Given the description of an element on the screen output the (x, y) to click on. 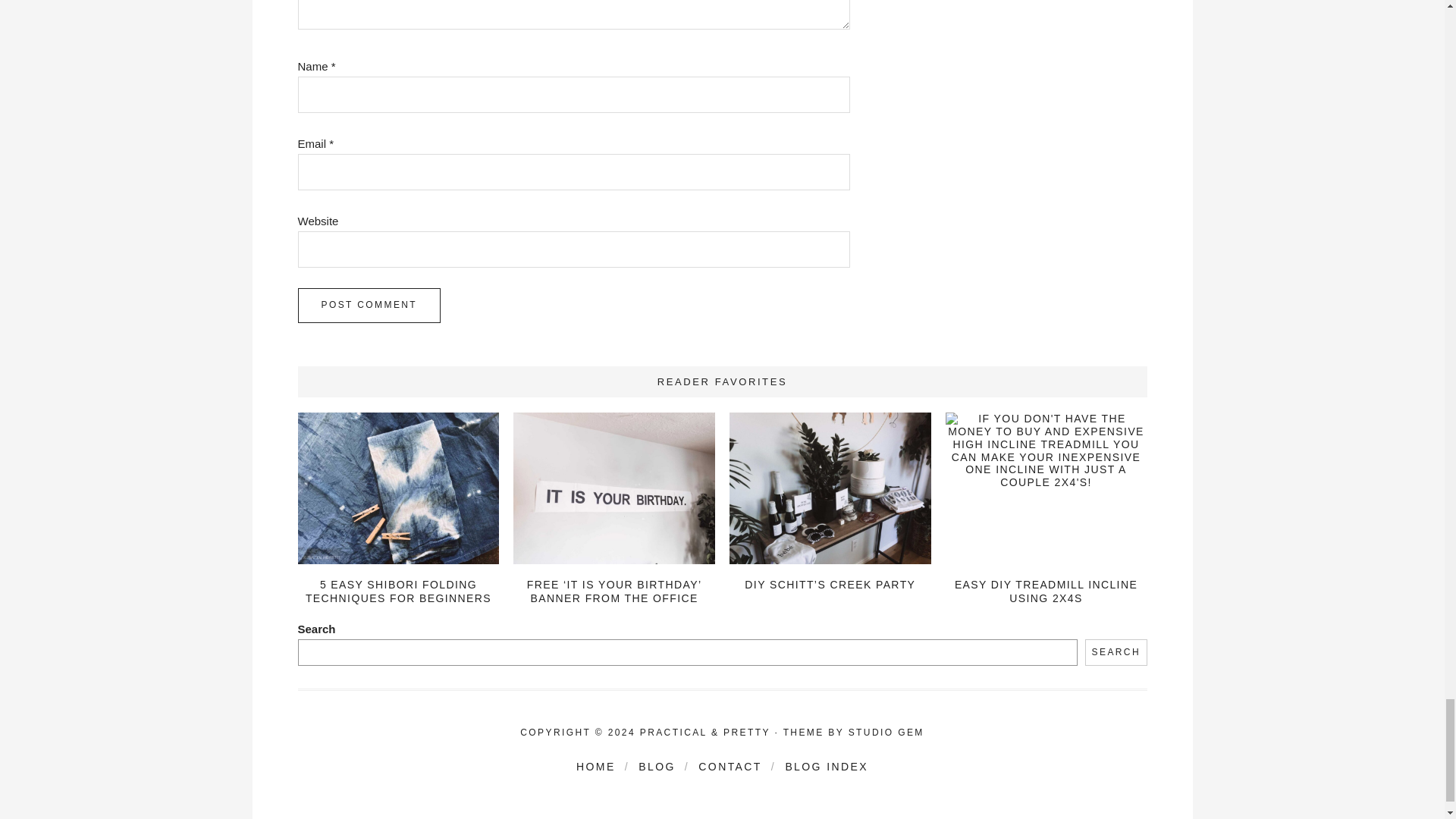
Post Comment (369, 305)
